Given the description of an element on the screen output the (x, y) to click on. 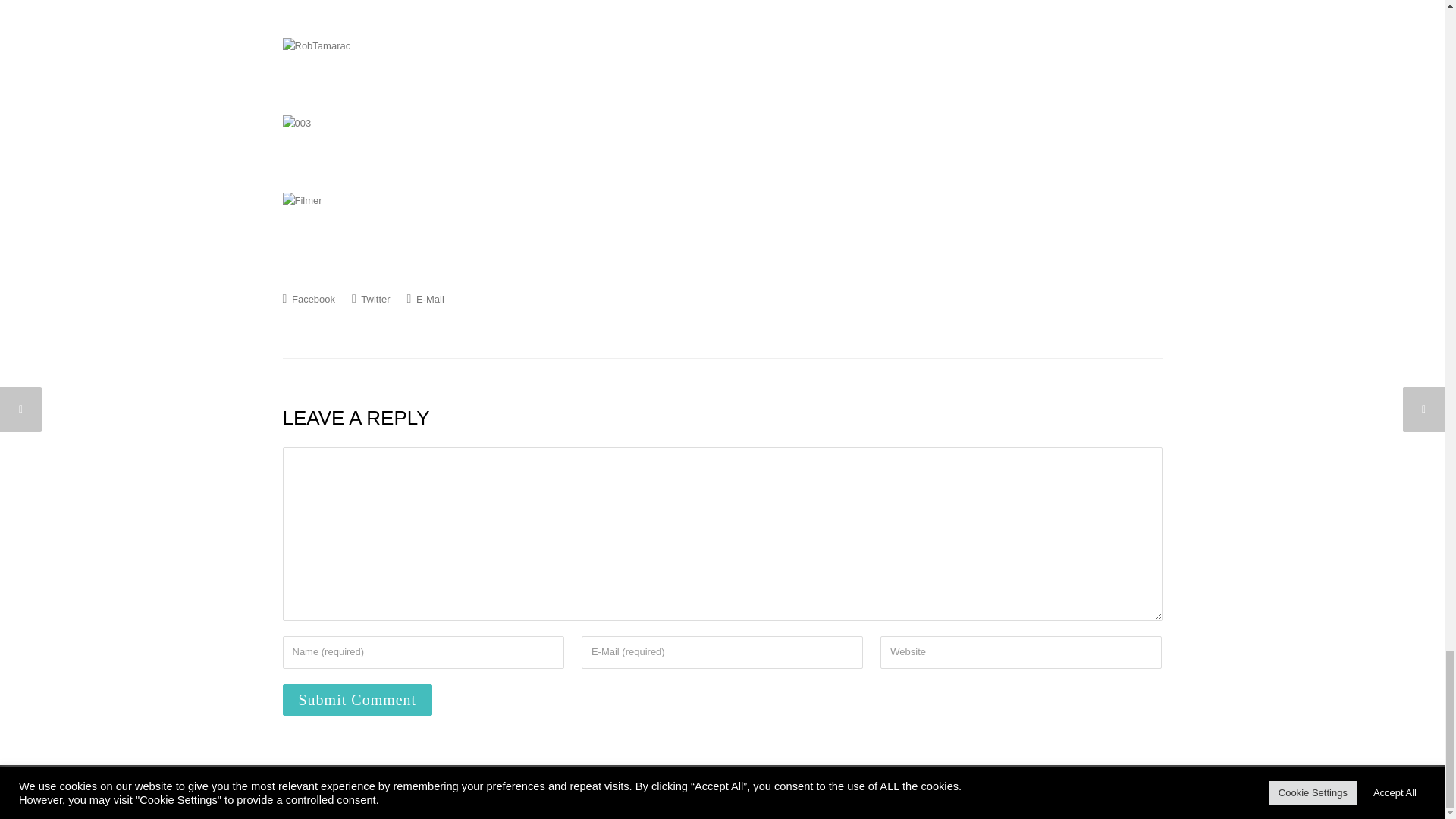
Website (1020, 652)
Submit Comment (357, 699)
Twitter (371, 298)
Submit Comment (357, 699)
Facebook (308, 298)
CONTACT (1138, 784)
E-Mail (425, 298)
